Given the description of an element on the screen output the (x, y) to click on. 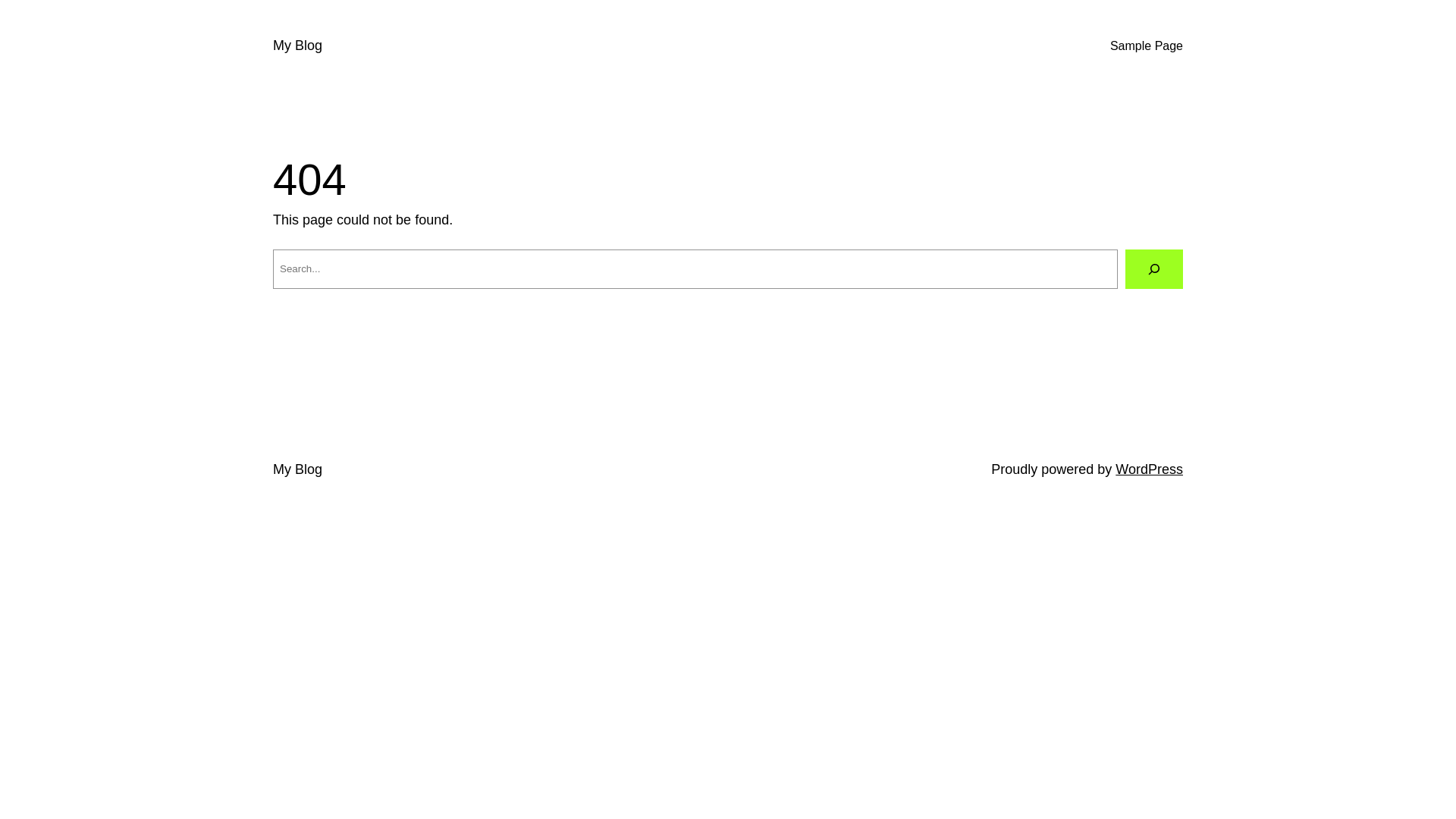
Sample Page Element type: text (1146, 46)
My Blog Element type: text (297, 45)
My Blog Element type: text (297, 468)
WordPress Element type: text (1149, 468)
